Given the description of an element on the screen output the (x, y) to click on. 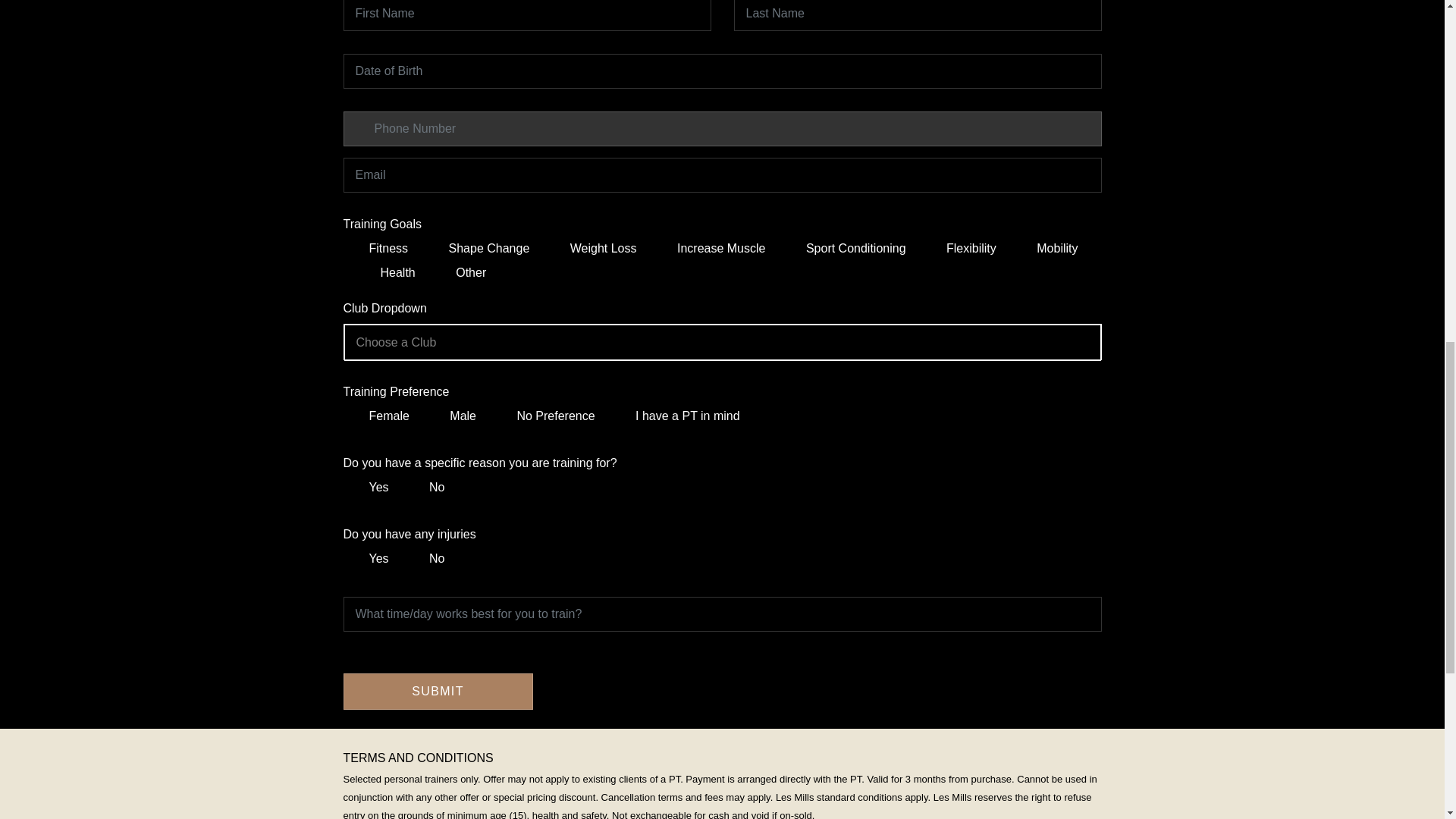
Submit (437, 691)
Submit (437, 691)
